Given the description of an element on the screen output the (x, y) to click on. 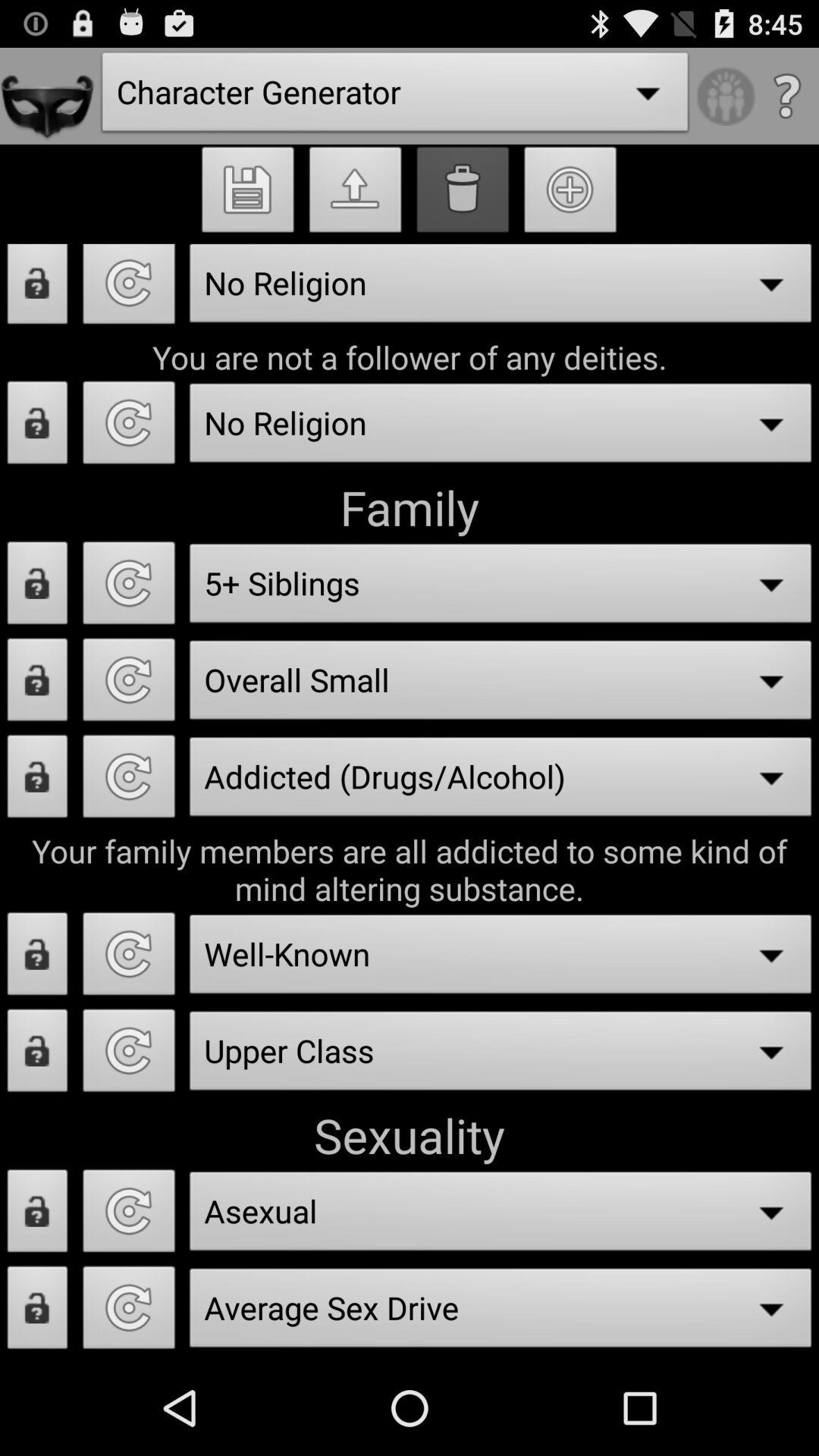
unlock (37, 1215)
